Given the description of an element on the screen output the (x, y) to click on. 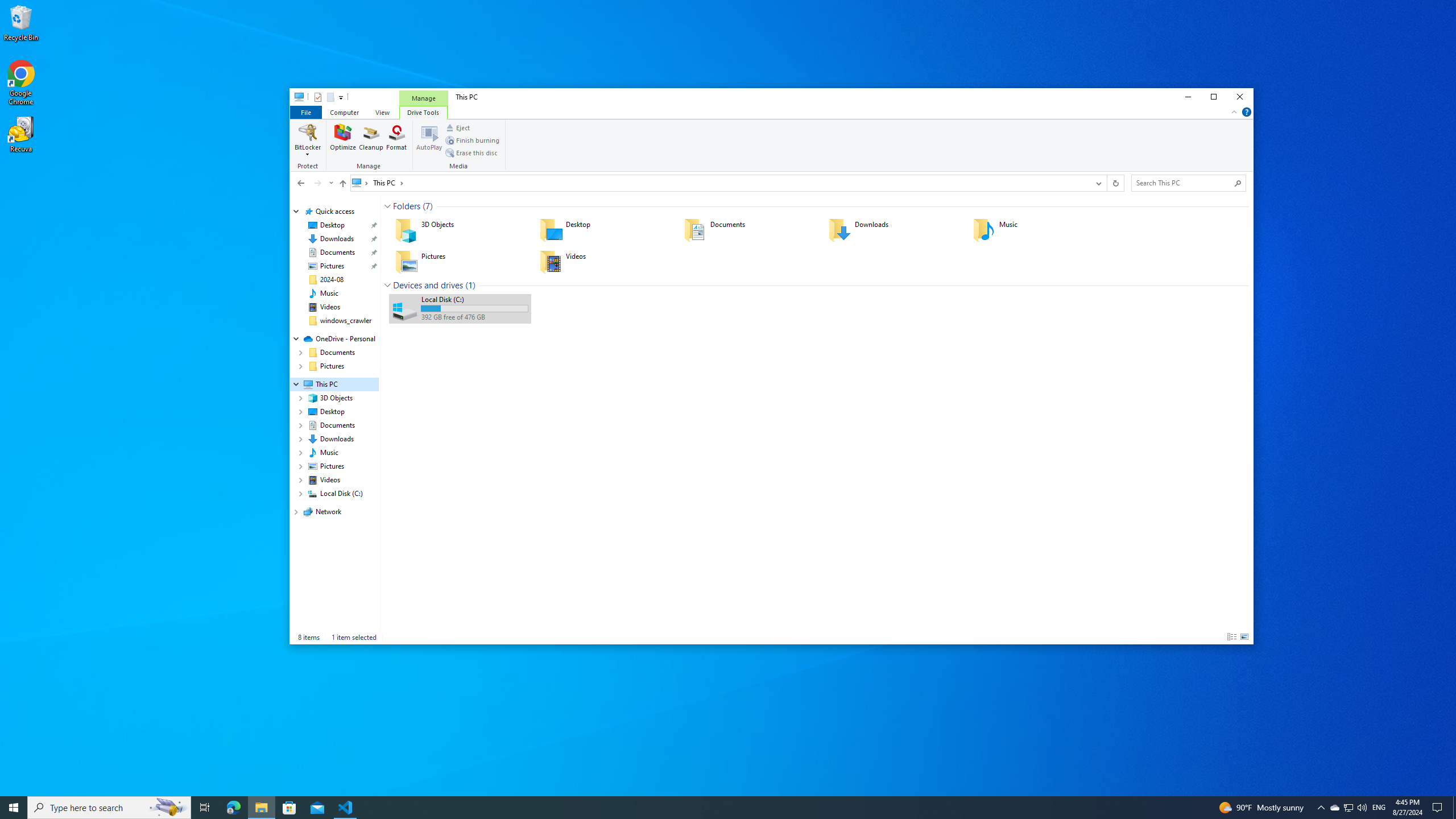
Collapse Group (386, 285)
Space used (474, 308)
Navigation buttons (314, 182)
Cleanup (371, 140)
Finish burning (473, 140)
Microsoft Edge (233, 807)
Q2790: 100% (1361, 807)
2024-08 (331, 279)
Large Icons (1243, 636)
Minimize (1333, 807)
Help (1187, 96)
New folder (1246, 111)
Protect (330, 96)
All locations (309, 145)
